Given the description of an element on the screen output the (x, y) to click on. 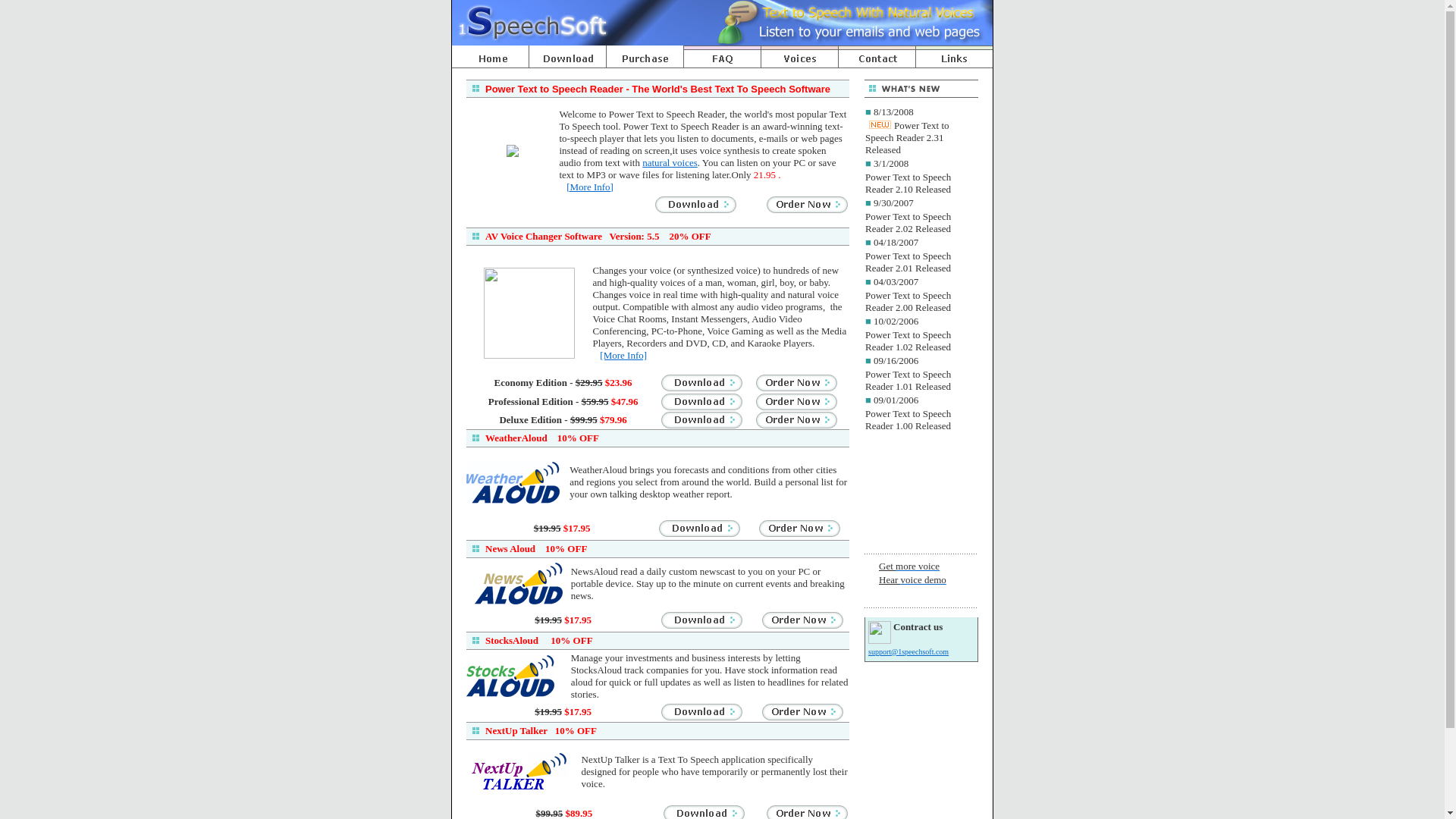
[More Info] Element type: text (589, 185)
[More Info] Element type: text (622, 354)
support@1speechsoft.com Element type: text (908, 651)
natural voices Element type: text (669, 161)
voice demo Element type: text (923, 578)
more voice Element type: text (917, 564)
